Given the description of an element on the screen output the (x, y) to click on. 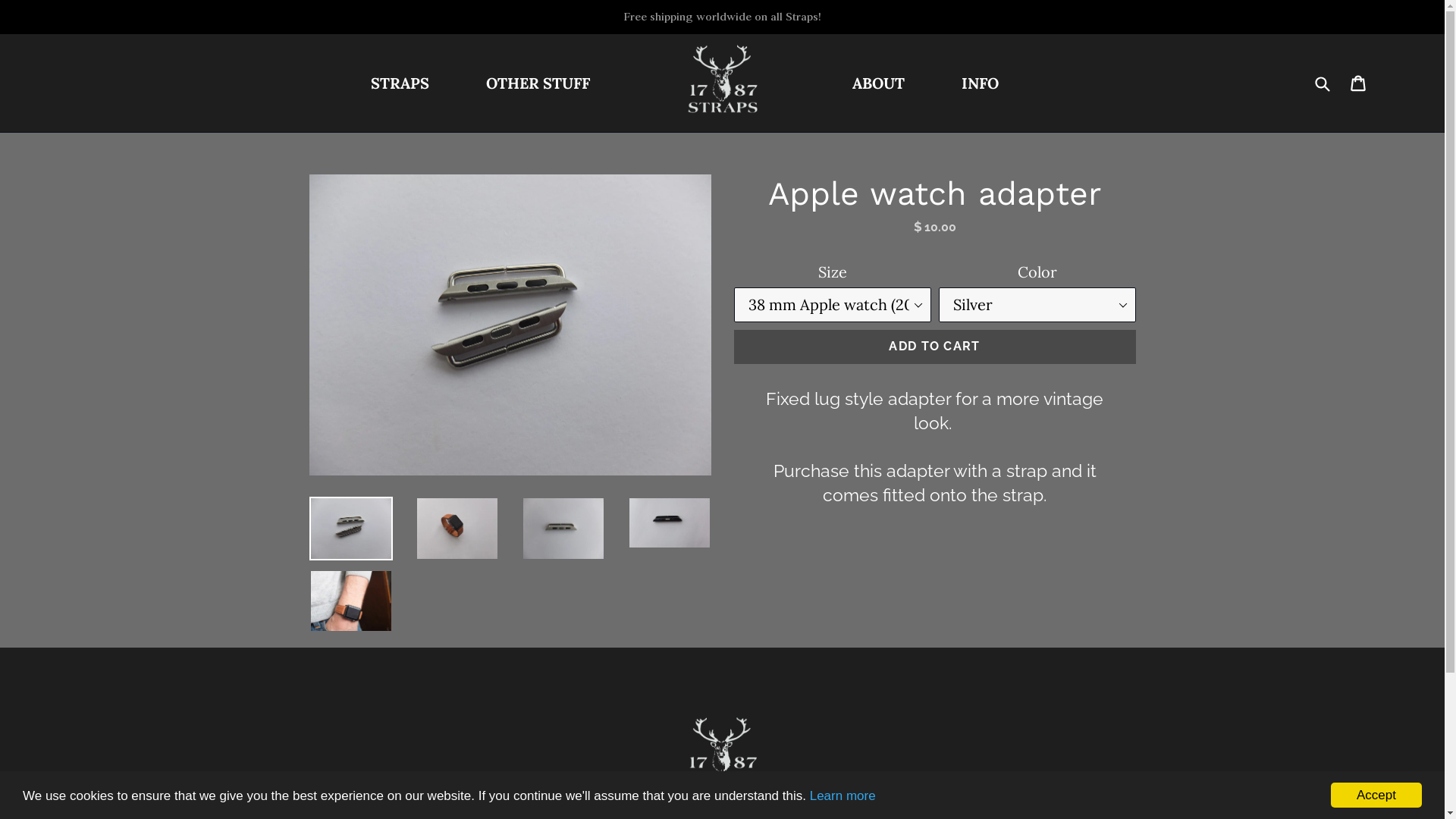
Cart
Cart Element type: text (1359, 82)
1787 Straps Element type: text (721, 750)
OTHER STUFF Element type: text (536, 83)
ADD TO CART Element type: text (934, 346)
Learn more Element type: text (842, 795)
1787 STRAPS Element type: text (721, 78)
INFO Element type: text (979, 83)
Submit Element type: text (1321, 82)
Free shipping worldwide on all Straps! Element type: text (722, 17)
STRAPS Element type: text (399, 83)
ABOUT Element type: text (878, 83)
Accept Element type: text (1375, 794)
